Given the description of an element on the screen output the (x, y) to click on. 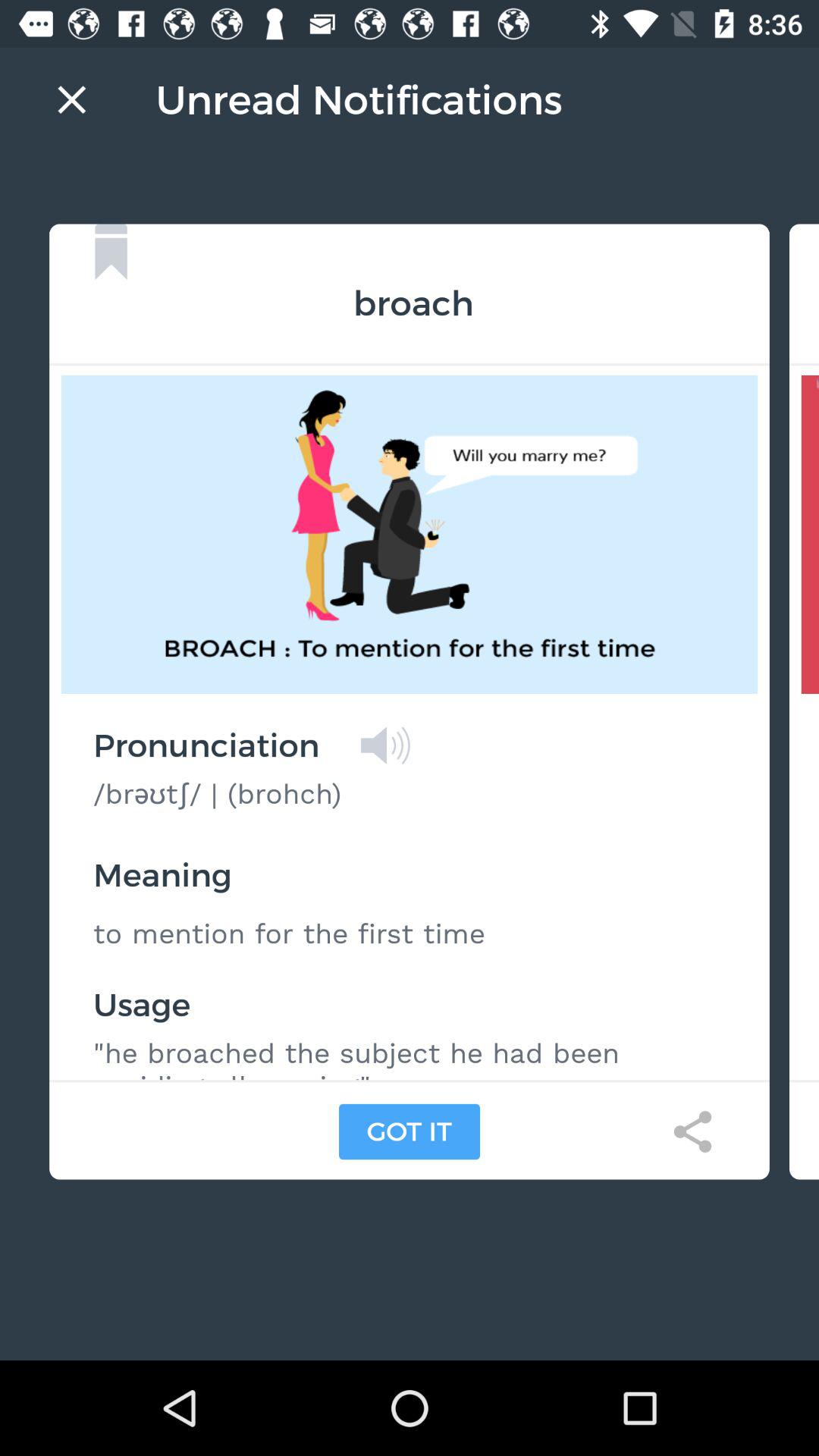
closing icon (71, 99)
